Given the description of an element on the screen output the (x, y) to click on. 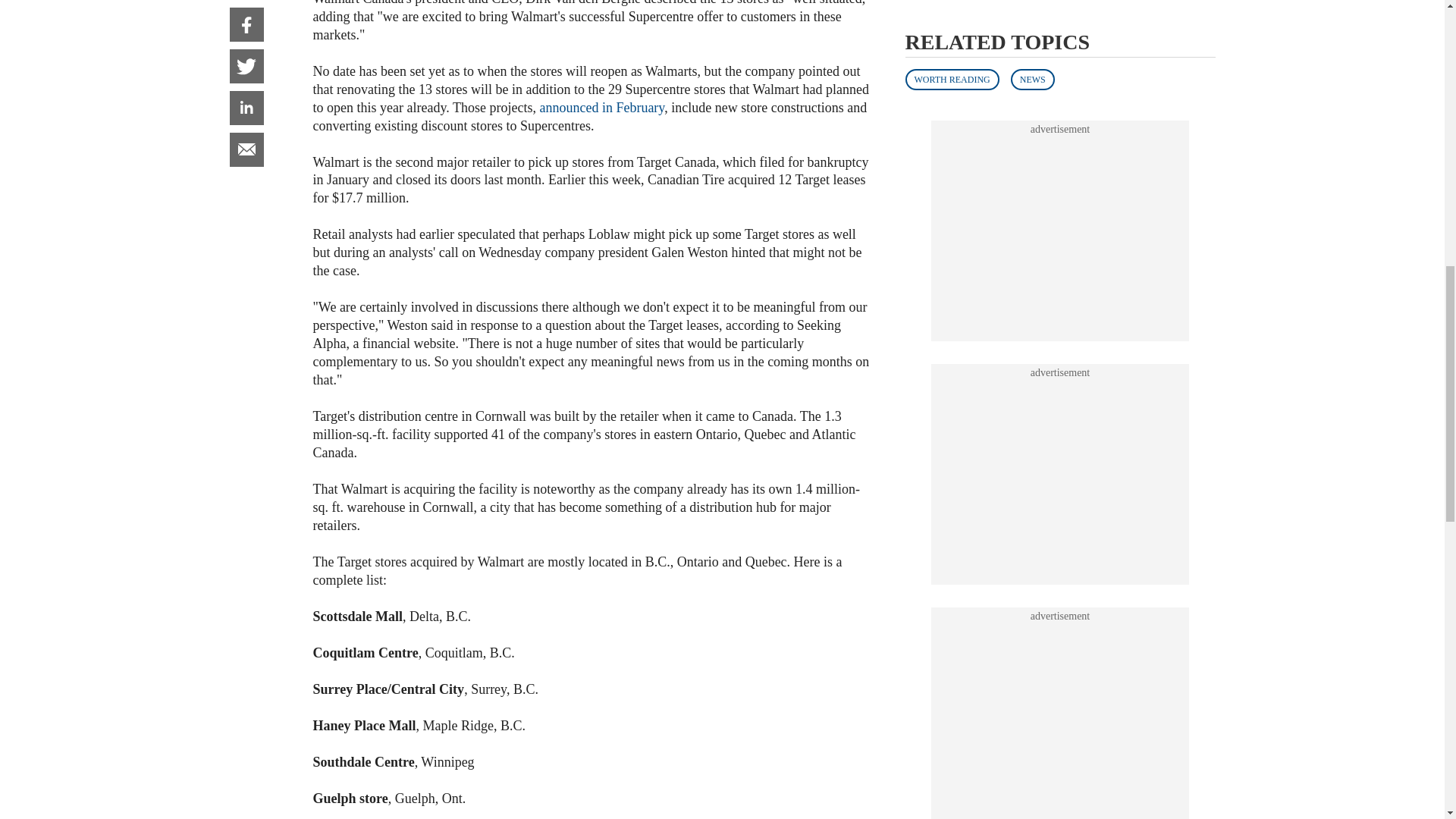
3rd party ad content (1059, 182)
3rd party ad content (1059, 17)
